Given the description of an element on the screen output the (x, y) to click on. 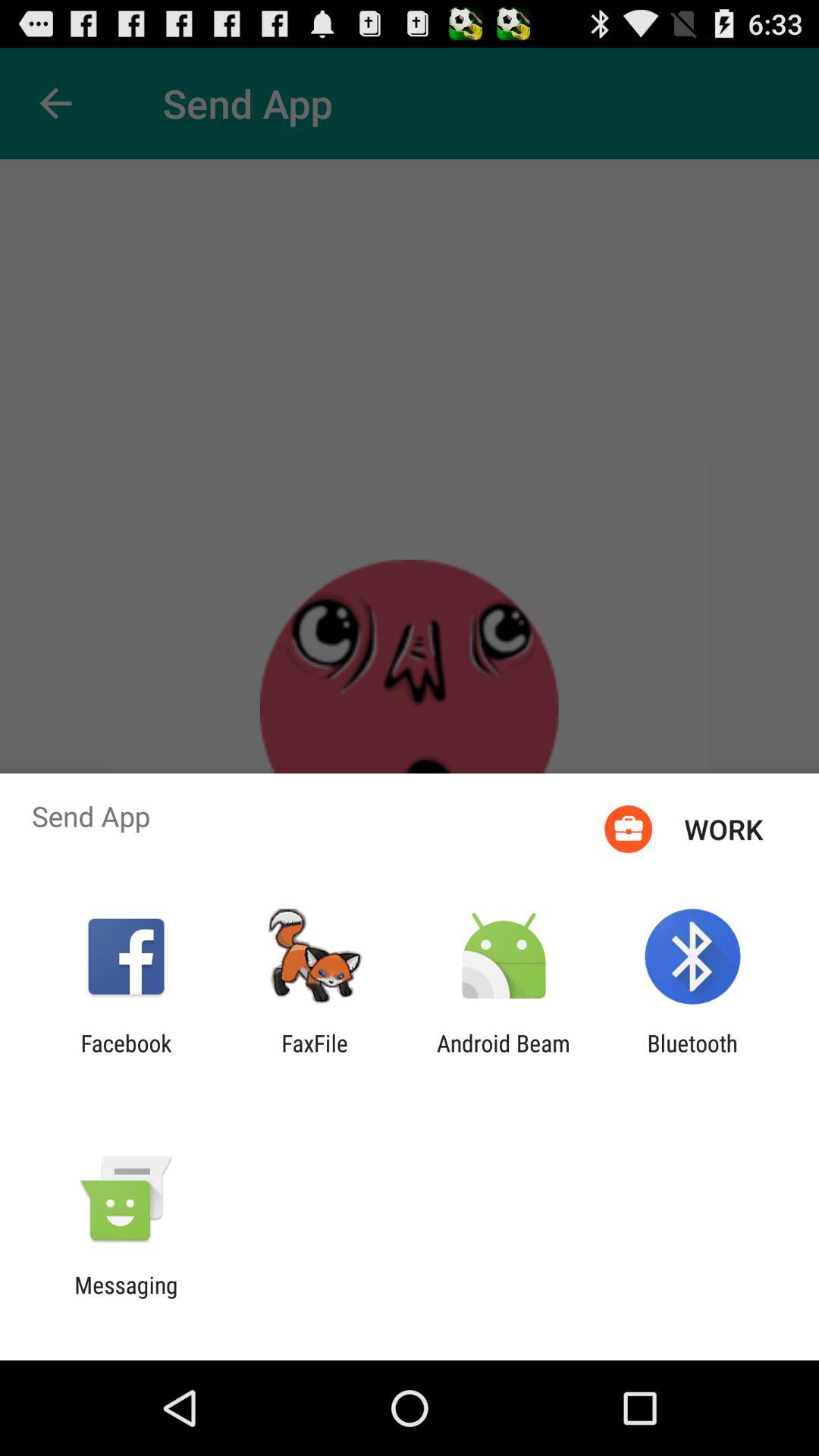
choose the bluetooth app (692, 1056)
